Given the description of an element on the screen output the (x, y) to click on. 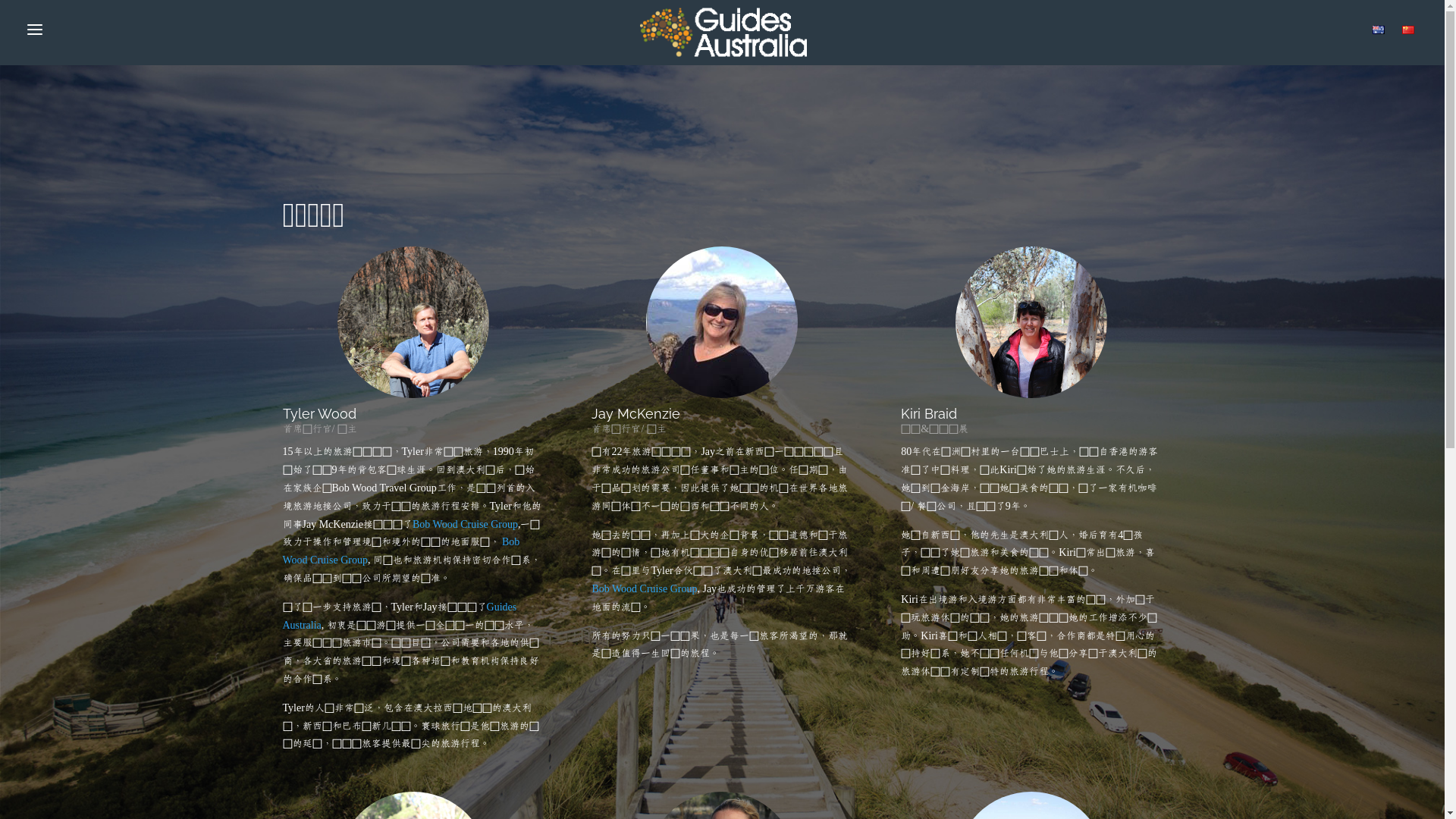
Guides Australia Element type: text (399, 616)
Bob Wood Cruise Group Element type: text (464, 524)
English Element type: hover (1378, 29)
Bob Wood Cruise Group Element type: text (400, 550)
Bob Wood Cruise Group Element type: text (643, 588)
